Given the description of an element on the screen output the (x, y) to click on. 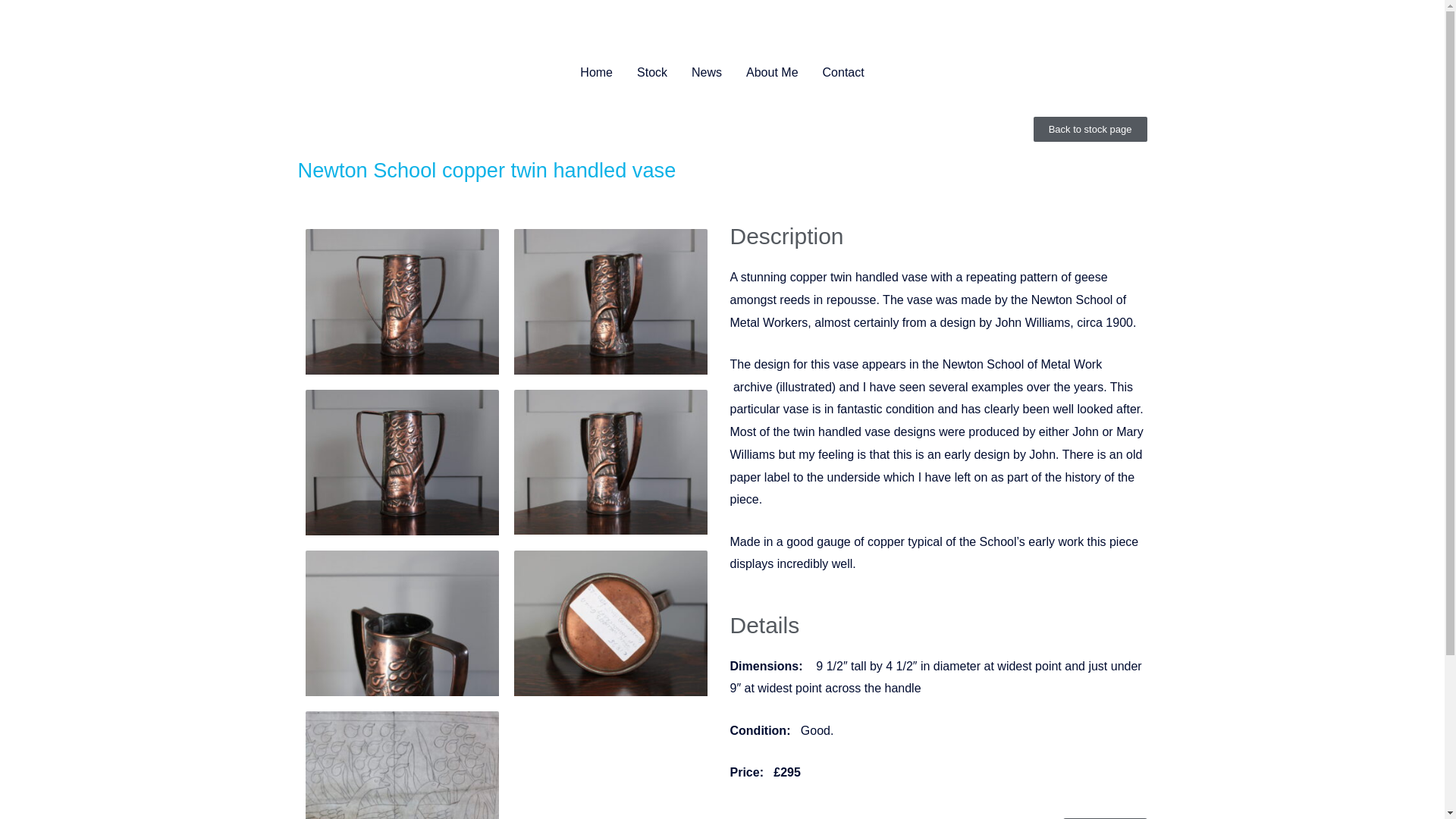
Stock (651, 72)
Home (595, 72)
Back to stock page (1090, 129)
About Me (771, 72)
News (706, 72)
Contact (843, 72)
